Given the description of an element on the screen output the (x, y) to click on. 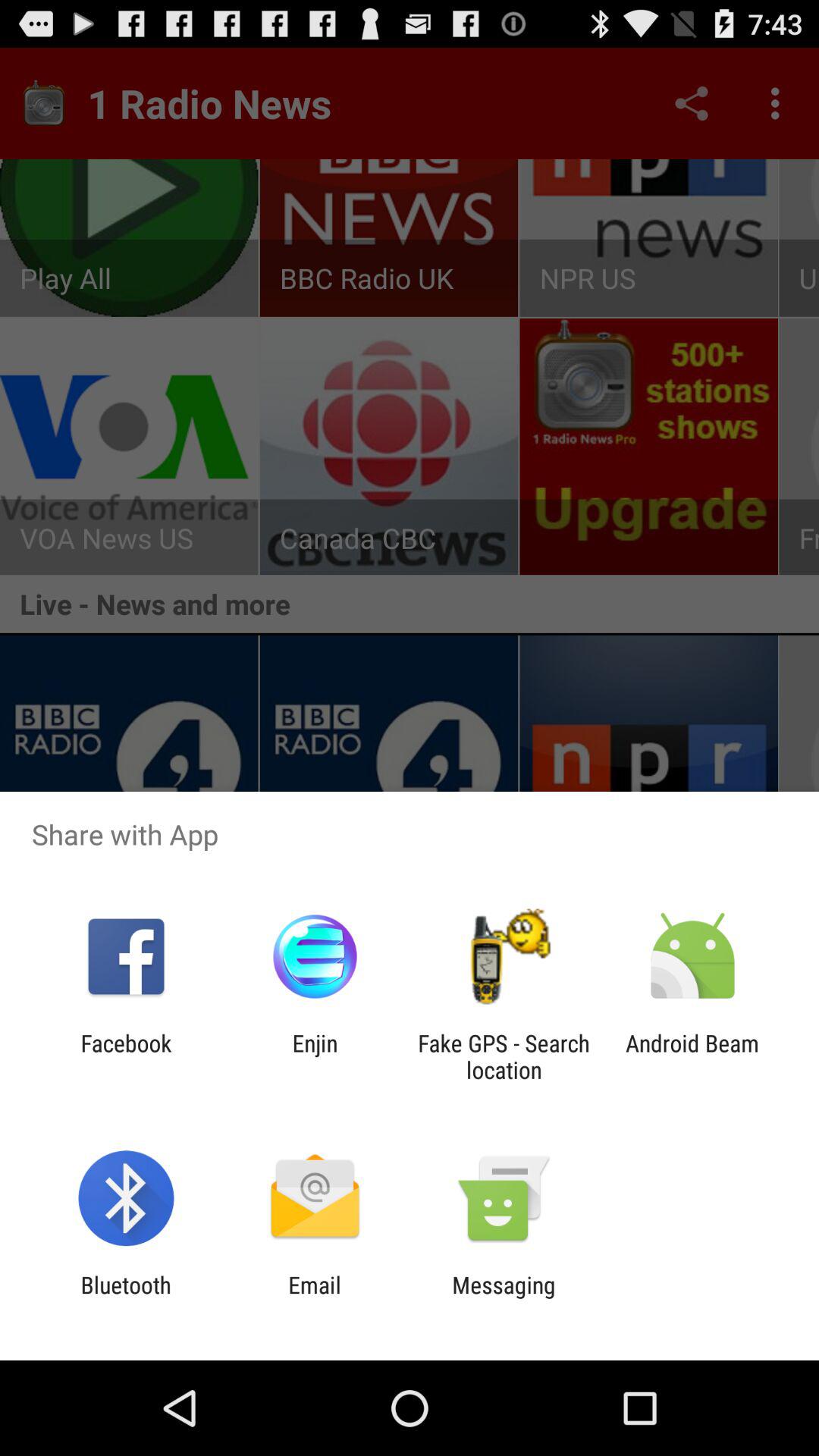
swipe until enjin app (314, 1056)
